Given the description of an element on the screen output the (x, y) to click on. 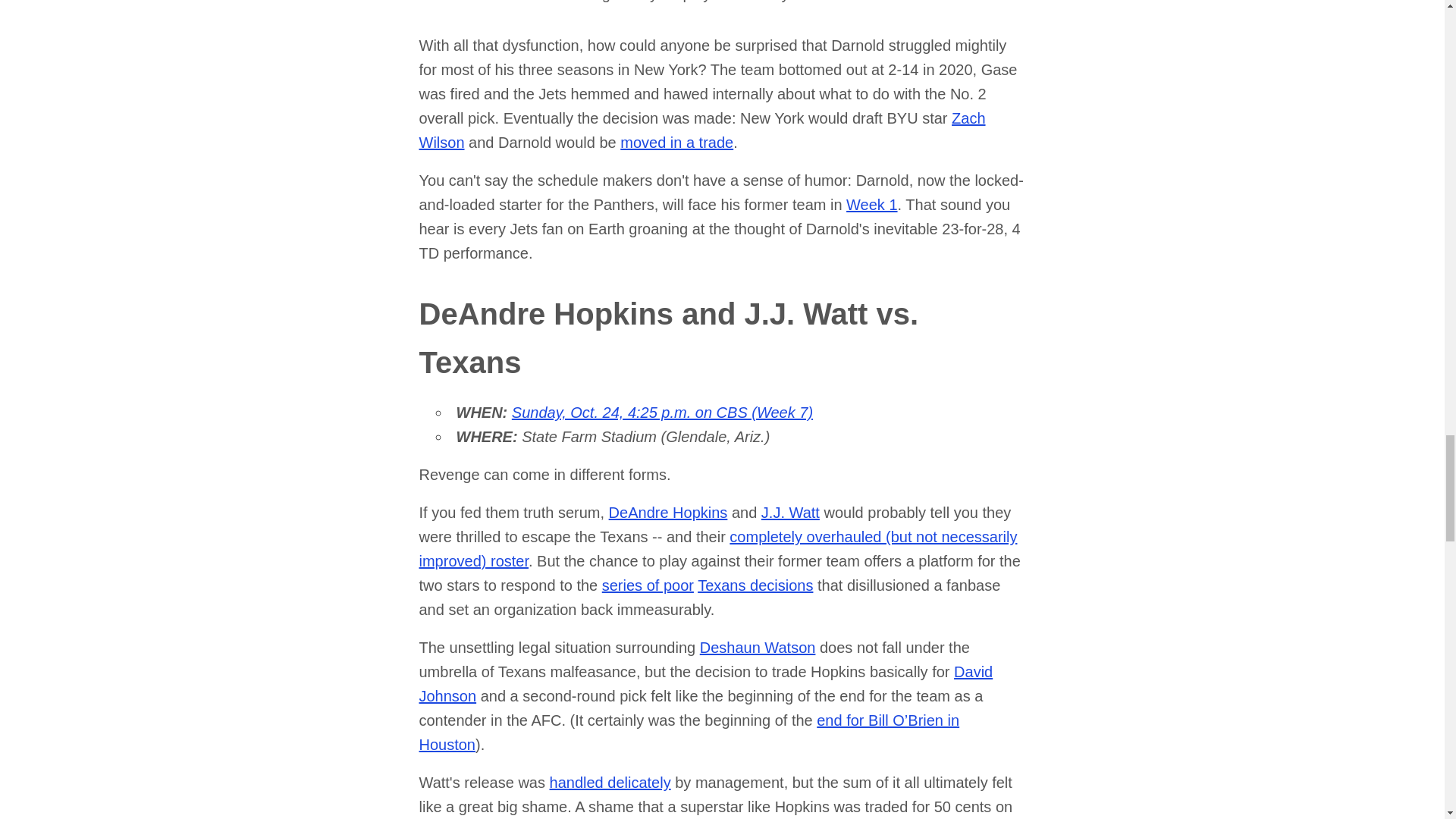
Week 1 (870, 204)
moved in a trade (676, 142)
Zach Wilson (702, 129)
